Given the description of an element on the screen output the (x, y) to click on. 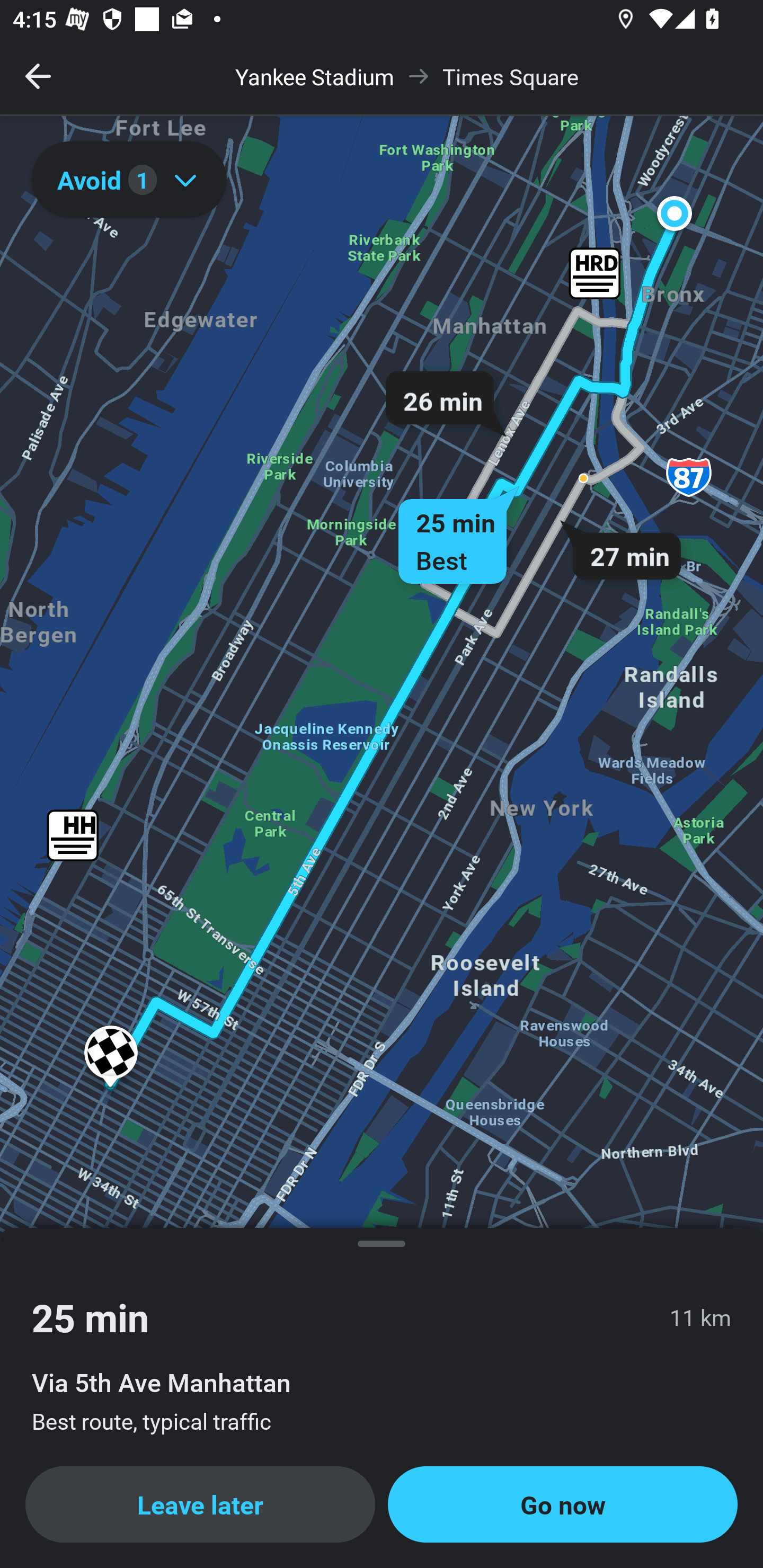
Leave later (200, 1504)
Go now (562, 1504)
